Given the description of an element on the screen output the (x, y) to click on. 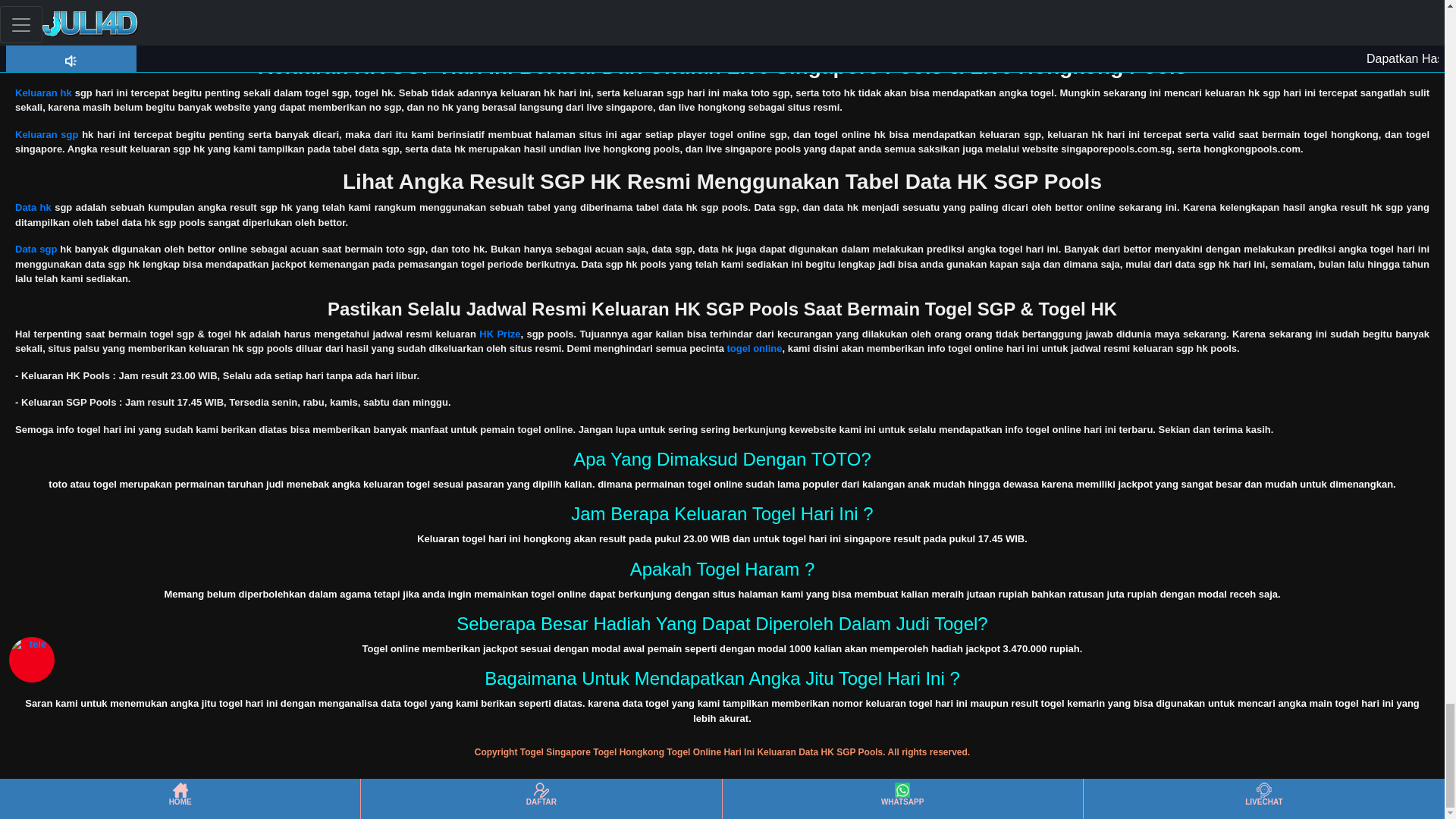
Data sgp (35, 248)
togel online (753, 348)
Keluaran hk (42, 92)
HK Prize (499, 333)
Keluaran sgp (46, 134)
Togel hari ini (45, 19)
Data hk (32, 206)
